Given the description of an element on the screen output the (x, y) to click on. 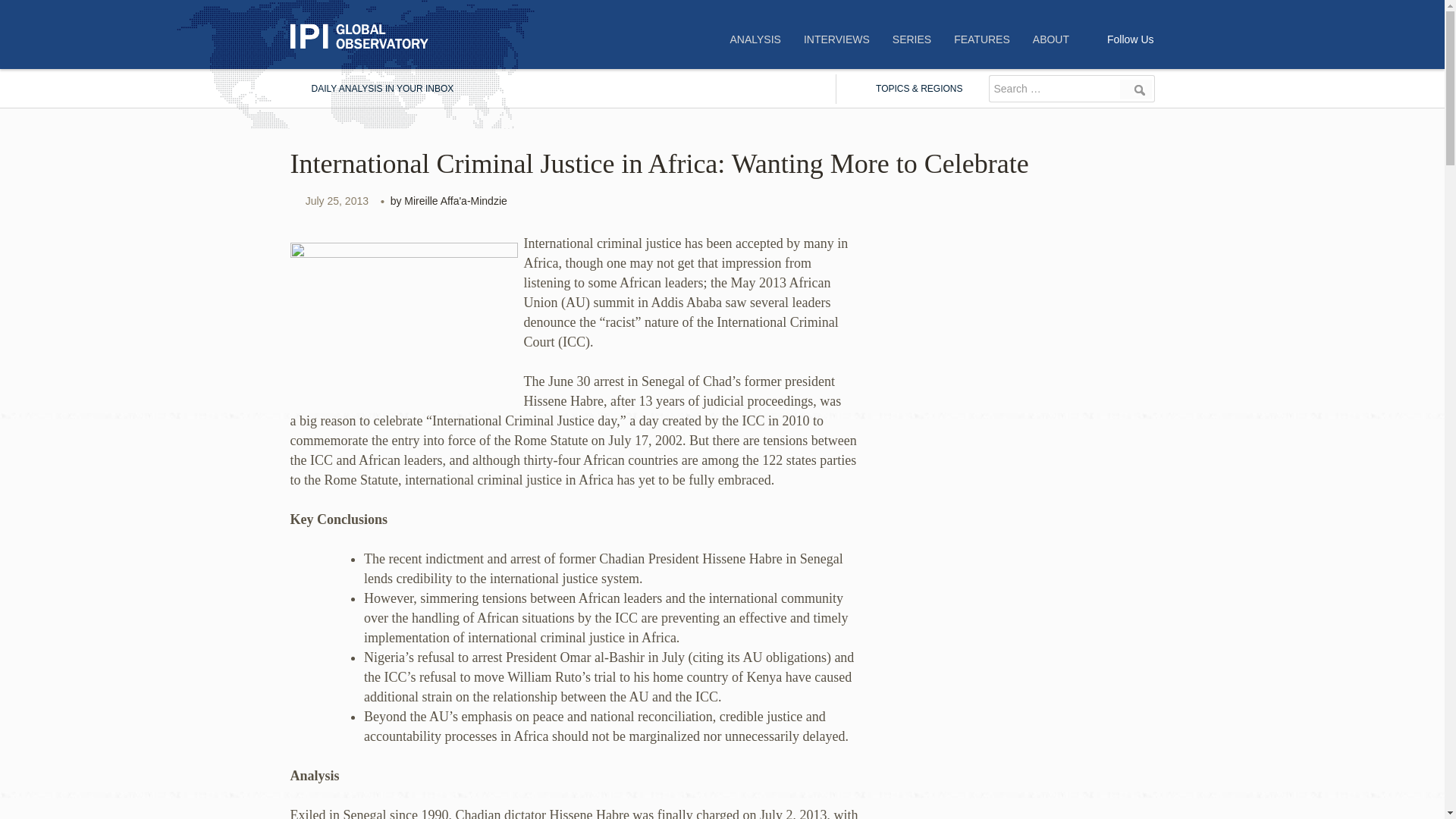
DAILY ANALYSIS IN YOUR INBOX (372, 89)
SERIES (911, 39)
FEATURES (982, 39)
Search for: (1053, 88)
search (1136, 88)
IPI Global Observatory (365, 36)
INTERVIEWS (836, 39)
ABOUT (1051, 39)
ANALYSIS (754, 39)
